Given the description of an element on the screen output the (x, y) to click on. 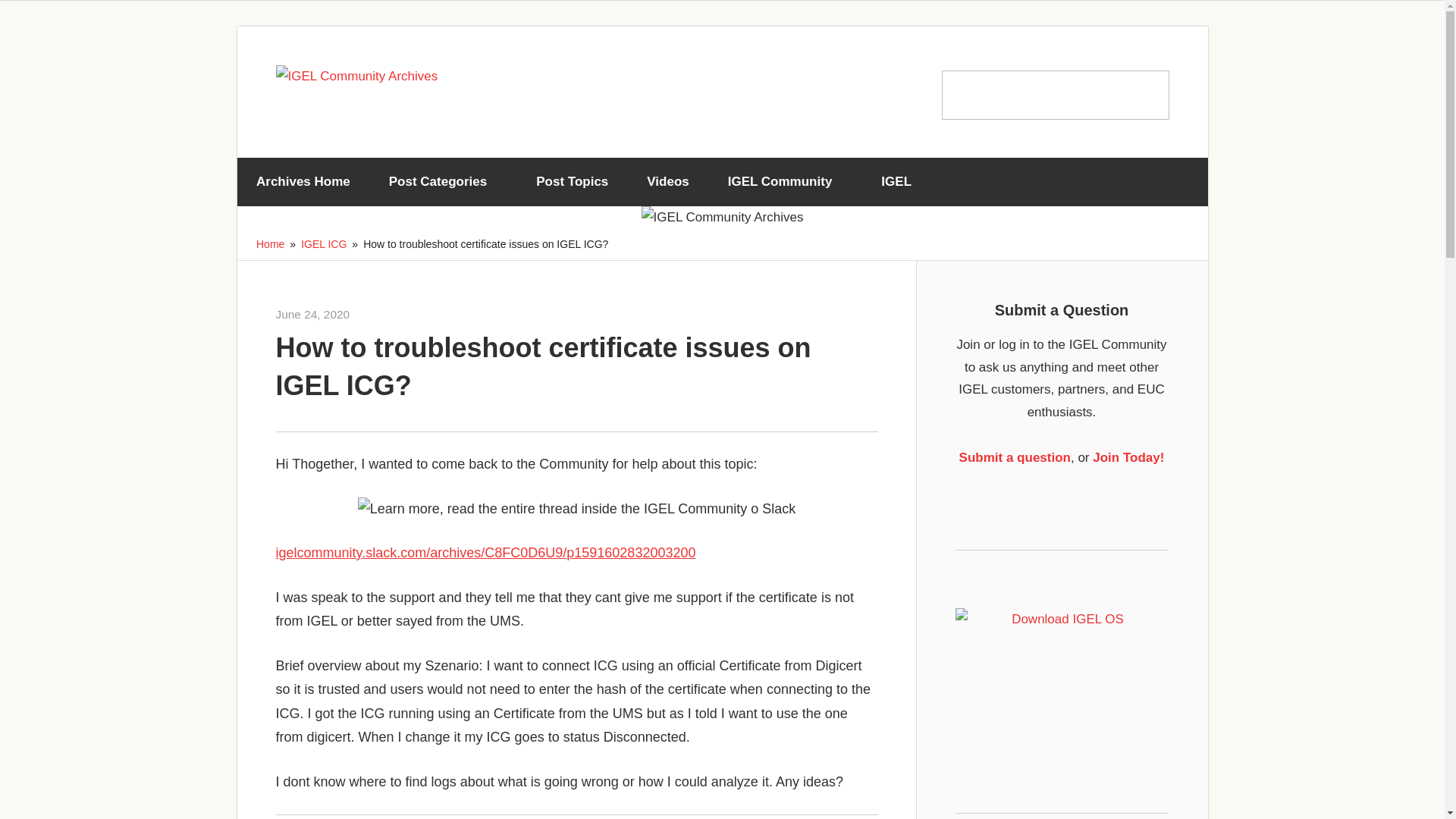
Videos (667, 182)
IGEL ICG (323, 244)
June 24, 2020 (313, 314)
IGEL Community (784, 182)
View all posts by IGEL Community Archives (411, 313)
Post Categories (442, 182)
IGEL (901, 182)
12:16 pm (313, 314)
Post Topics (571, 182)
Home (269, 244)
